Given the description of an element on the screen output the (x, y) to click on. 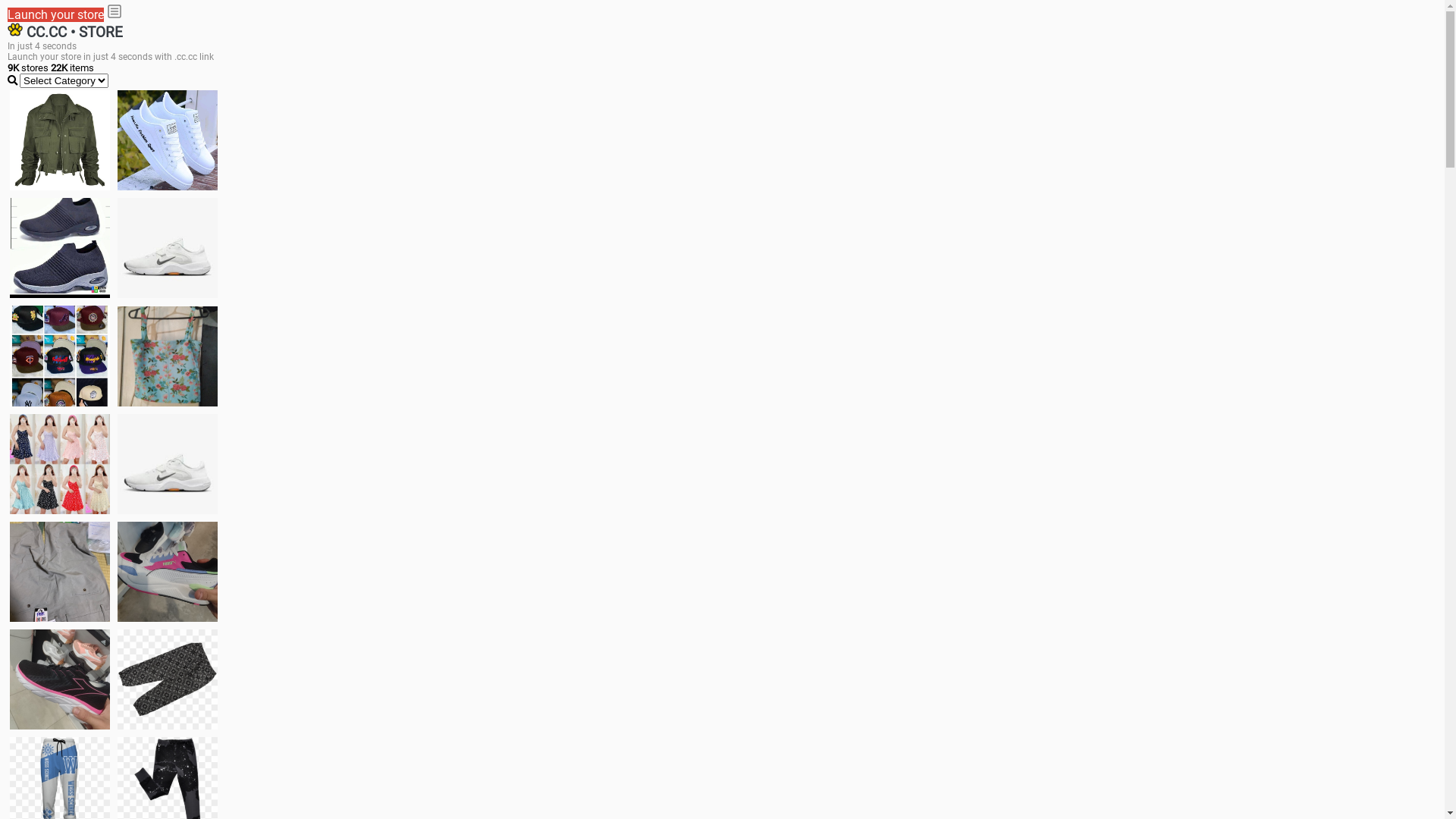
Ukay cloth Element type: hover (167, 356)
Zapatillas pumas Element type: hover (167, 571)
shoes for boys Element type: hover (59, 247)
white shoes Element type: hover (167, 140)
jacket Element type: hover (59, 140)
Dress/square nect top Element type: hover (59, 464)
Short pant Element type: hover (167, 679)
Shoes for boys Element type: hover (167, 247)
Things we need Element type: hover (59, 355)
Shoes Element type: hover (167, 464)
Launch your store Element type: text (55, 14)
Zapatillas Element type: hover (59, 679)
